Given the description of an element on the screen output the (x, y) to click on. 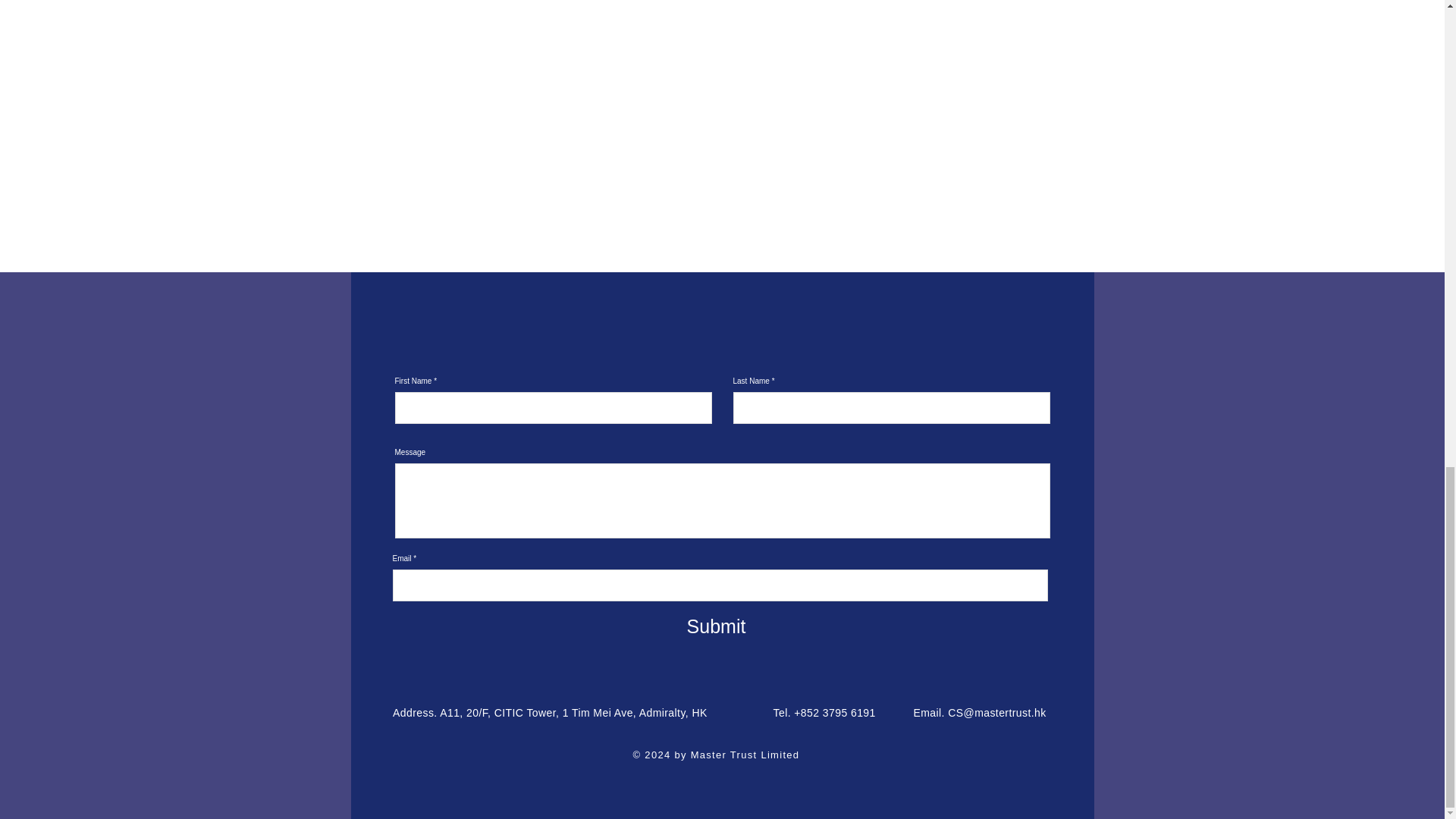
Submit (716, 625)
